Given the description of an element on the screen output the (x, y) to click on. 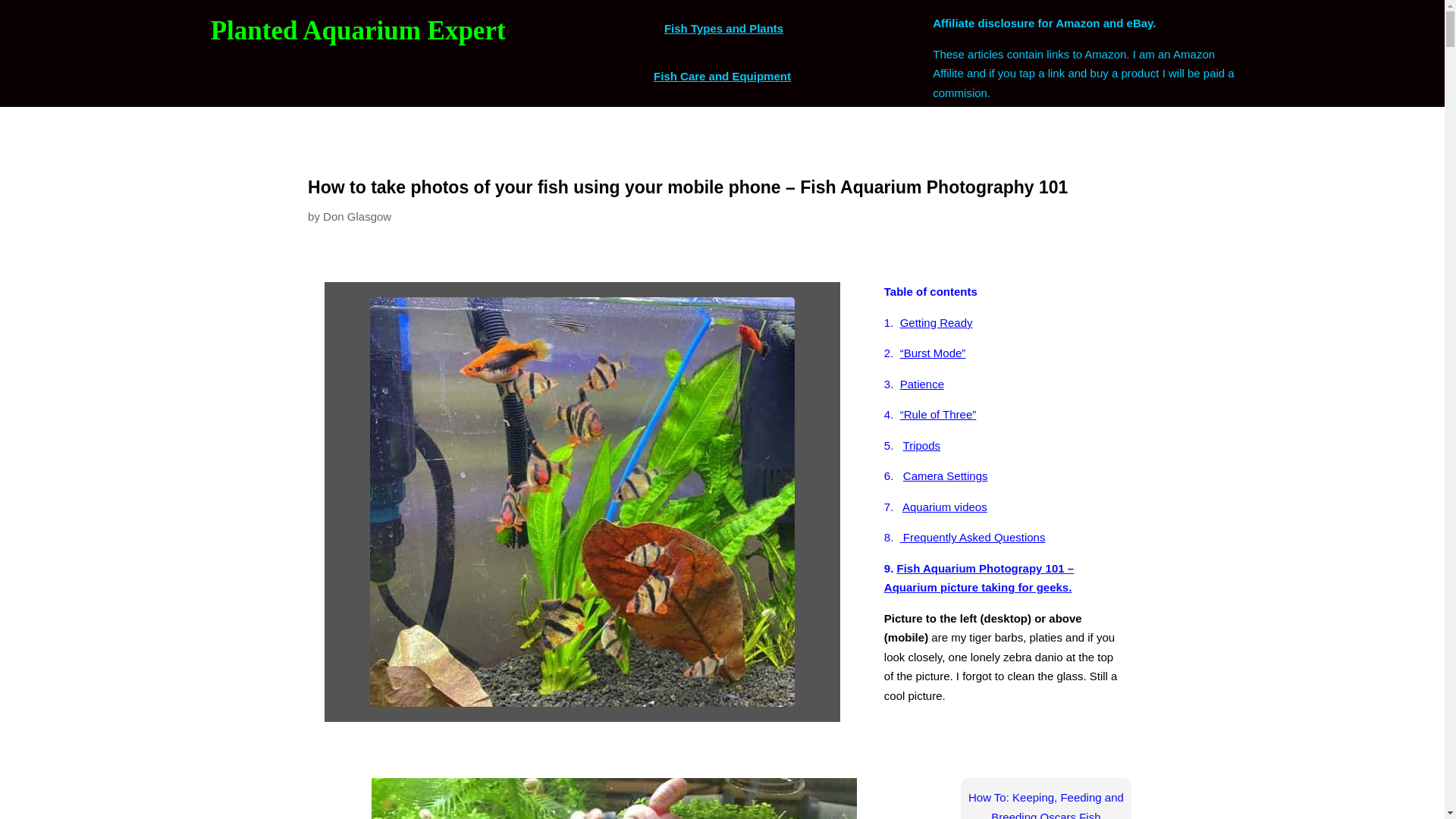
Don Glasgow (357, 215)
Getting Ready (935, 322)
 Fish Types and Plants (722, 28)
5.   Tripods (911, 445)
Planted Aquarium Expert (358, 30)
6.   Camera Settings (935, 475)
8.   Frequently Asked Questions (964, 536)
7.   Aquarium videos (935, 506)
4 - Copy (614, 798)
Posts by Don Glasgow (357, 215)
How To: Keeping, Feeding and Breeding Oscars Fish (1046, 805)
Fish Care and Equipment (721, 75)
3.  Patience (913, 383)
